Given the description of an element on the screen output the (x, y) to click on. 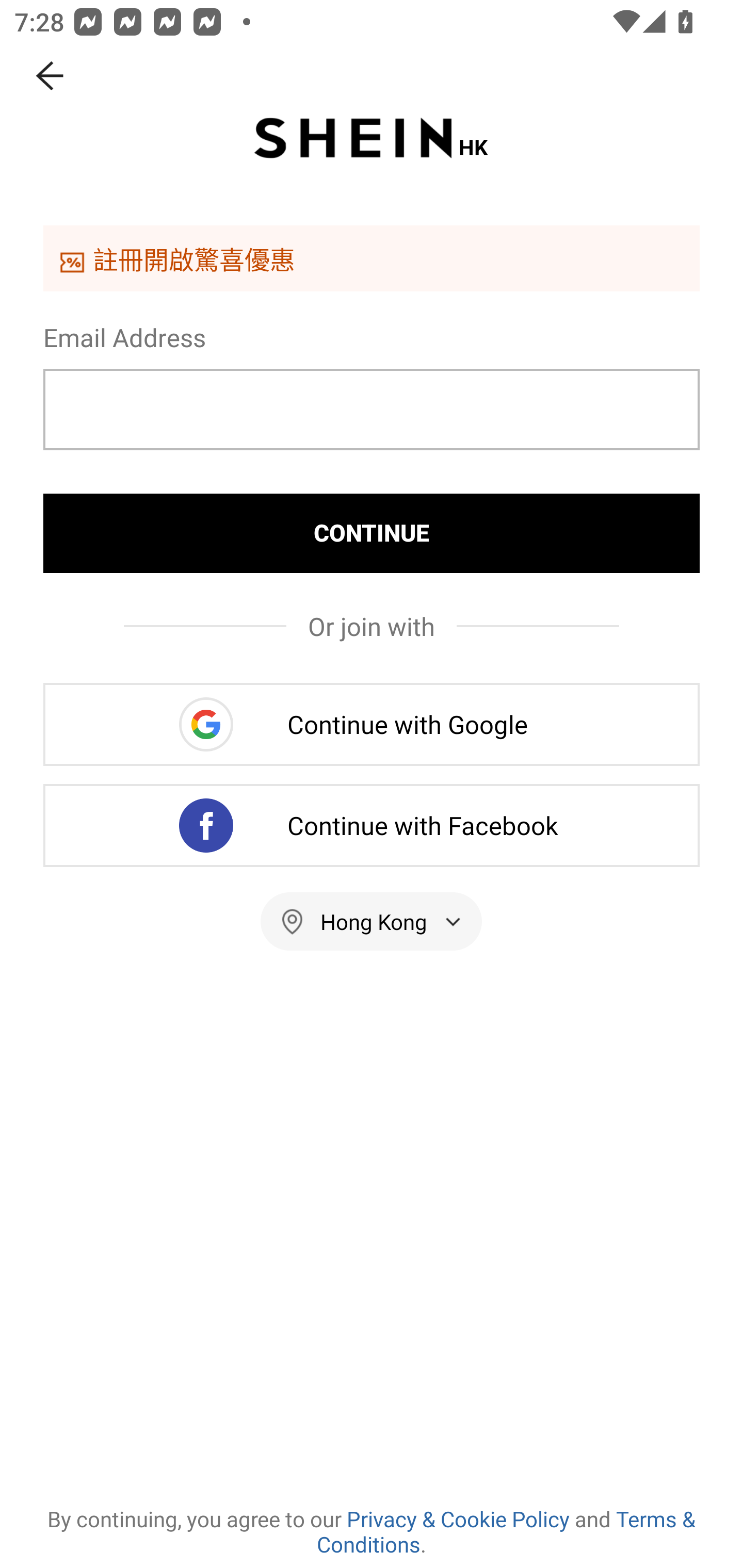
CLOSE (50, 75)
CONTINUE (371, 532)
Continue with Google (371, 724)
Continue with Facebook (371, 825)
Hong Kong (371, 921)
